Given the description of an element on the screen output the (x, y) to click on. 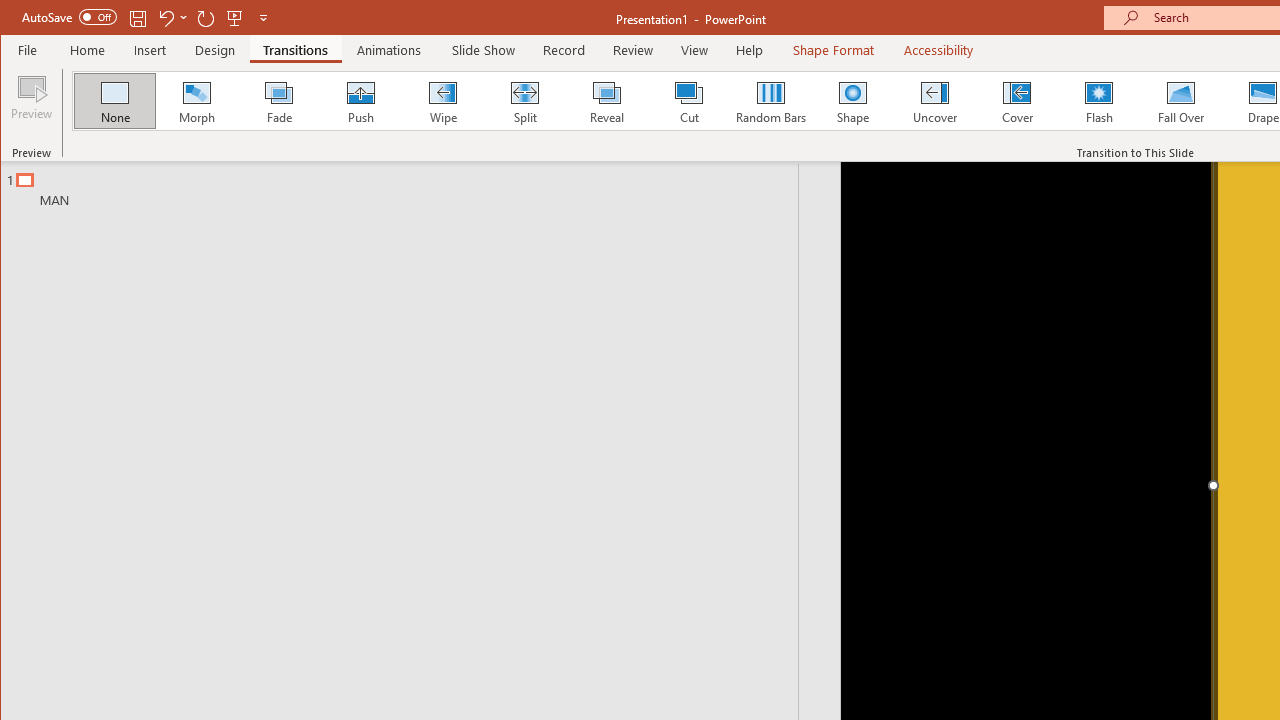
Uncover (934, 100)
Outline (408, 185)
